Given the description of an element on the screen output the (x, y) to click on. 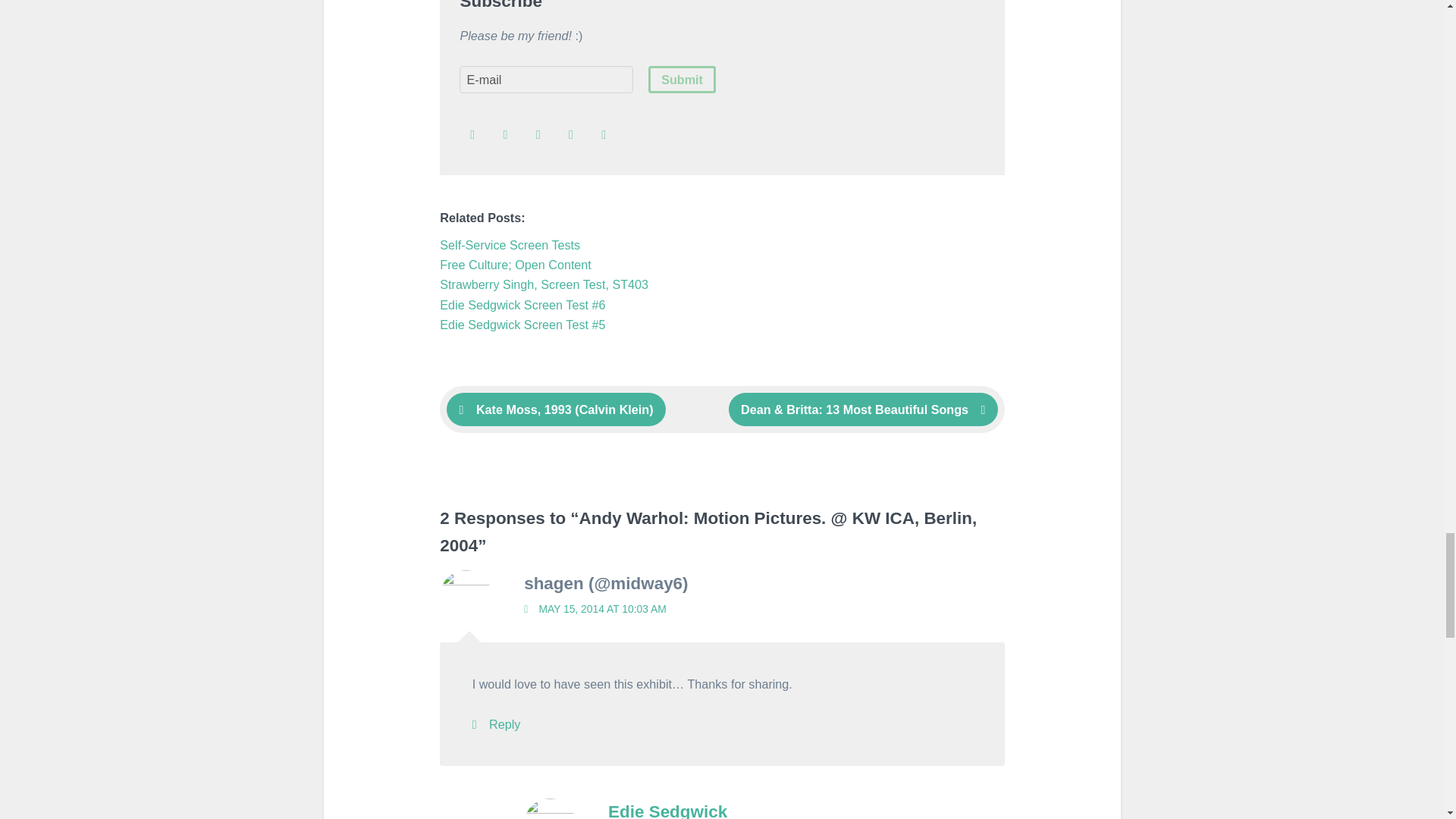
RSS (472, 135)
Submit (681, 79)
E-mail (545, 79)
